Given the description of an element on the screen output the (x, y) to click on. 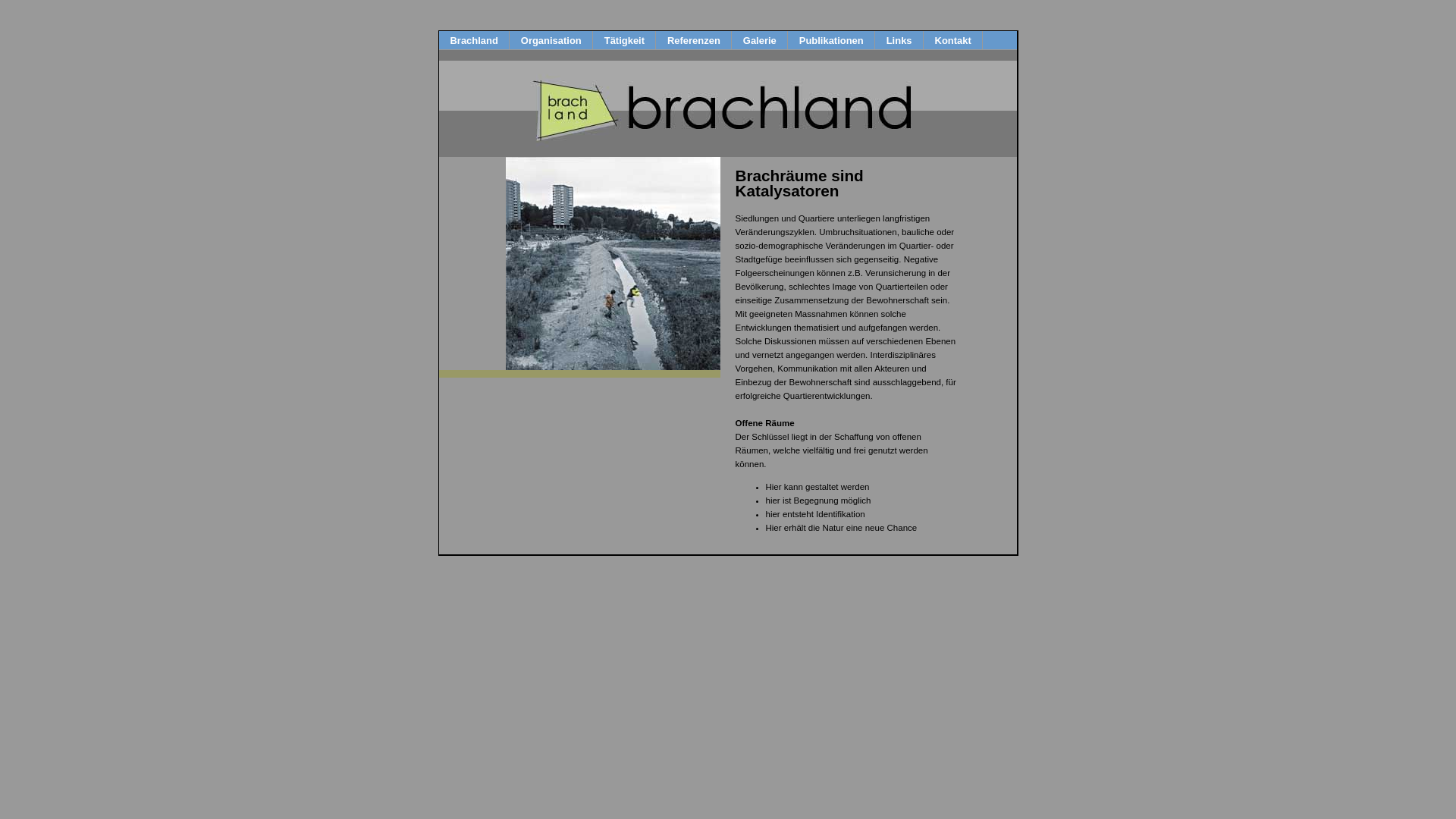
Referenzen Element type: text (693, 40)
Kontakt Element type: text (952, 40)
Links Element type: text (899, 40)
Brachland Element type: text (473, 40)
Publikationen Element type: text (831, 40)
Organisation Element type: text (551, 40)
Galerie Element type: text (759, 40)
